Given the description of an element on the screen output the (x, y) to click on. 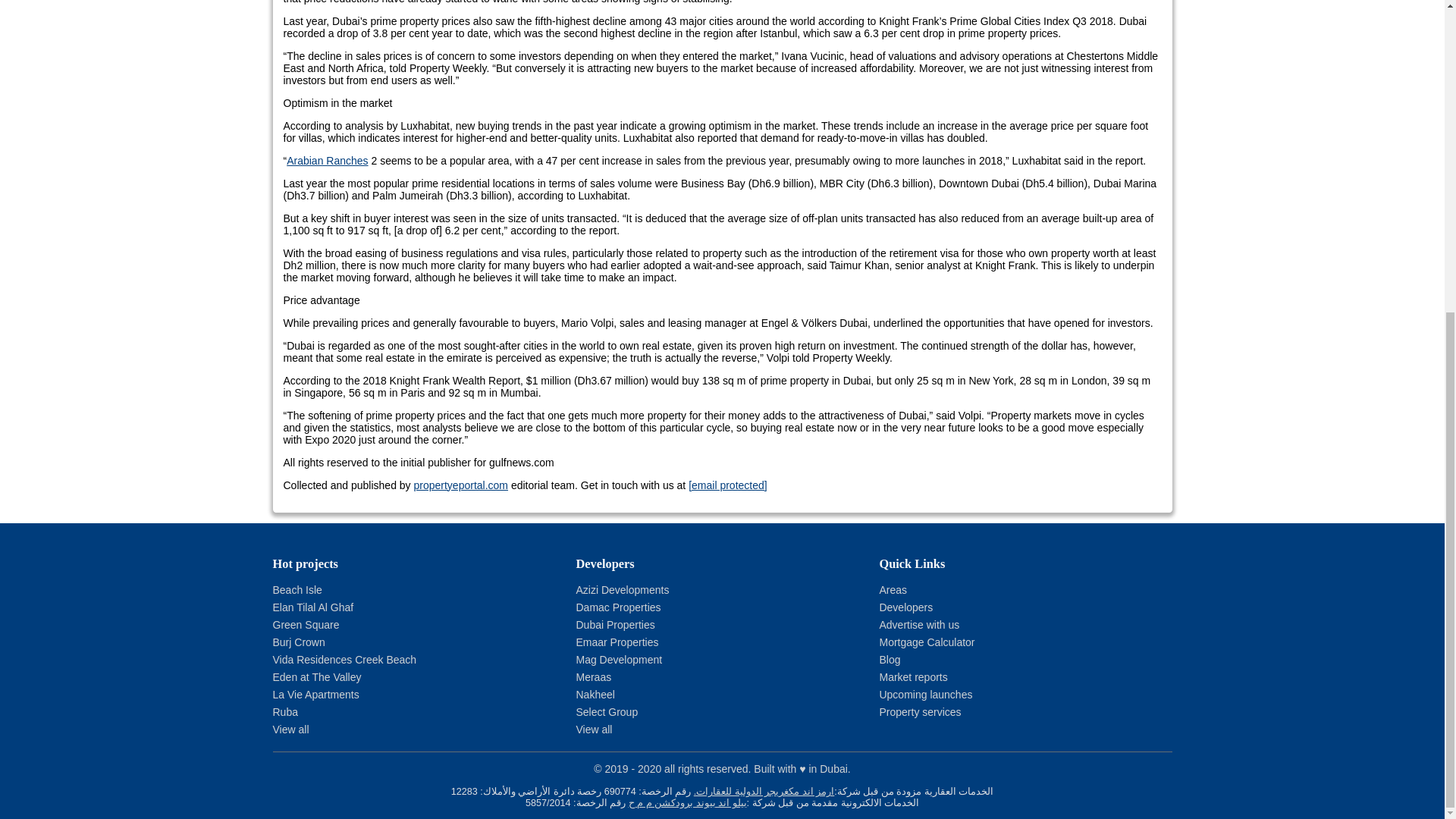
propertyeportal.com (460, 485)
View all (290, 729)
Select Group (606, 711)
La Vie Apartments (316, 694)
Elan Tilal Al Ghaf (313, 607)
Dubai Properties (614, 624)
Beach Isle (297, 589)
Ruba (285, 711)
Beach Isle (297, 589)
Mortgage Calculator (926, 642)
Damac Properties (618, 607)
Vida Residences Creek Beach (344, 659)
Advertise with us (919, 624)
Nakheel (594, 694)
Developers (906, 607)
